Given the description of an element on the screen output the (x, y) to click on. 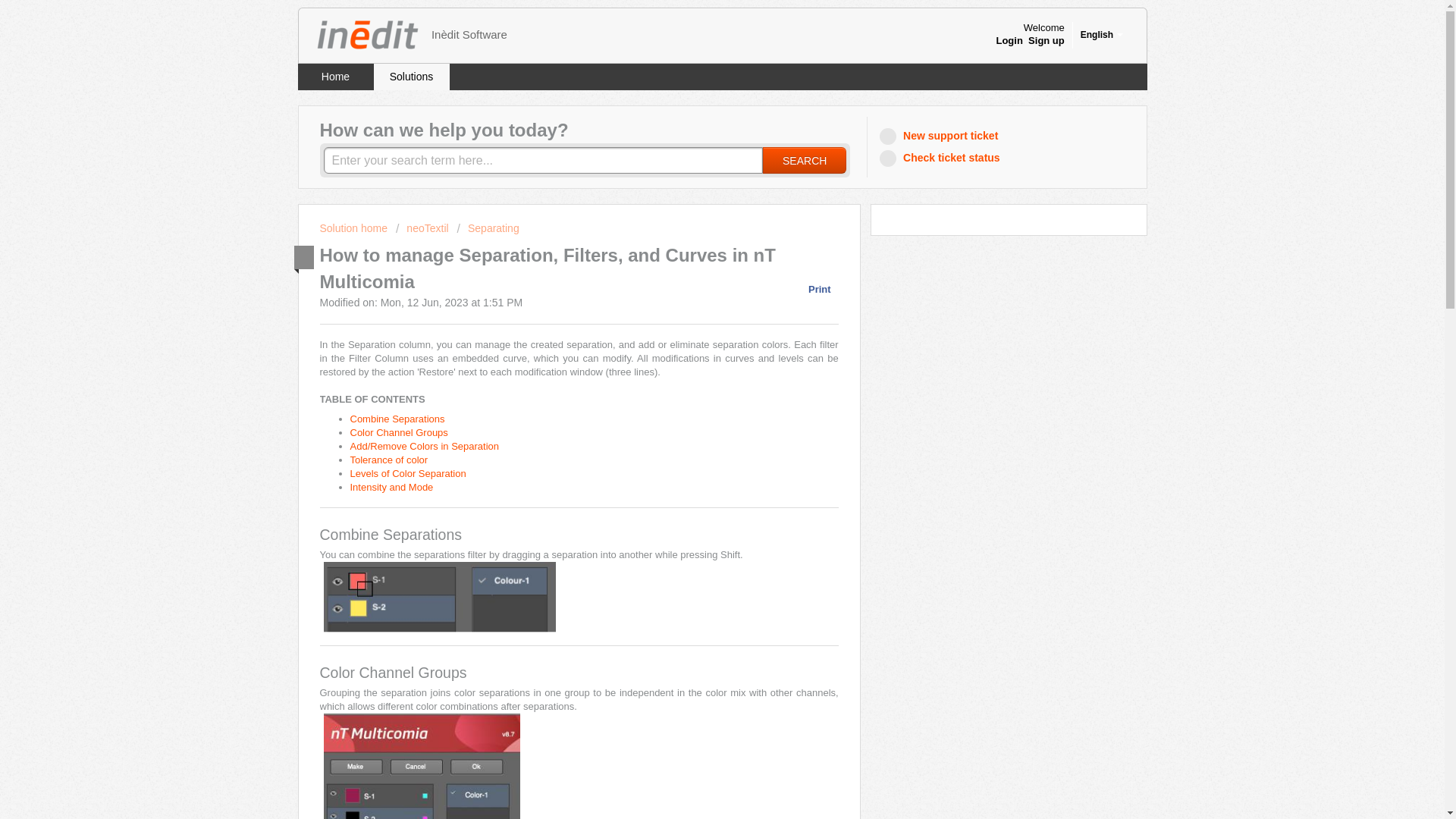
Intensity and Mode (391, 487)
Home (334, 76)
Levels of Color Separation (407, 473)
Combine Separations (397, 419)
Color Channel Groups  (400, 432)
Print this Article (812, 289)
neoTextil (422, 227)
Tolerance of color (389, 460)
Separating (488, 227)
Solutions (410, 76)
